Given the description of an element on the screen output the (x, y) to click on. 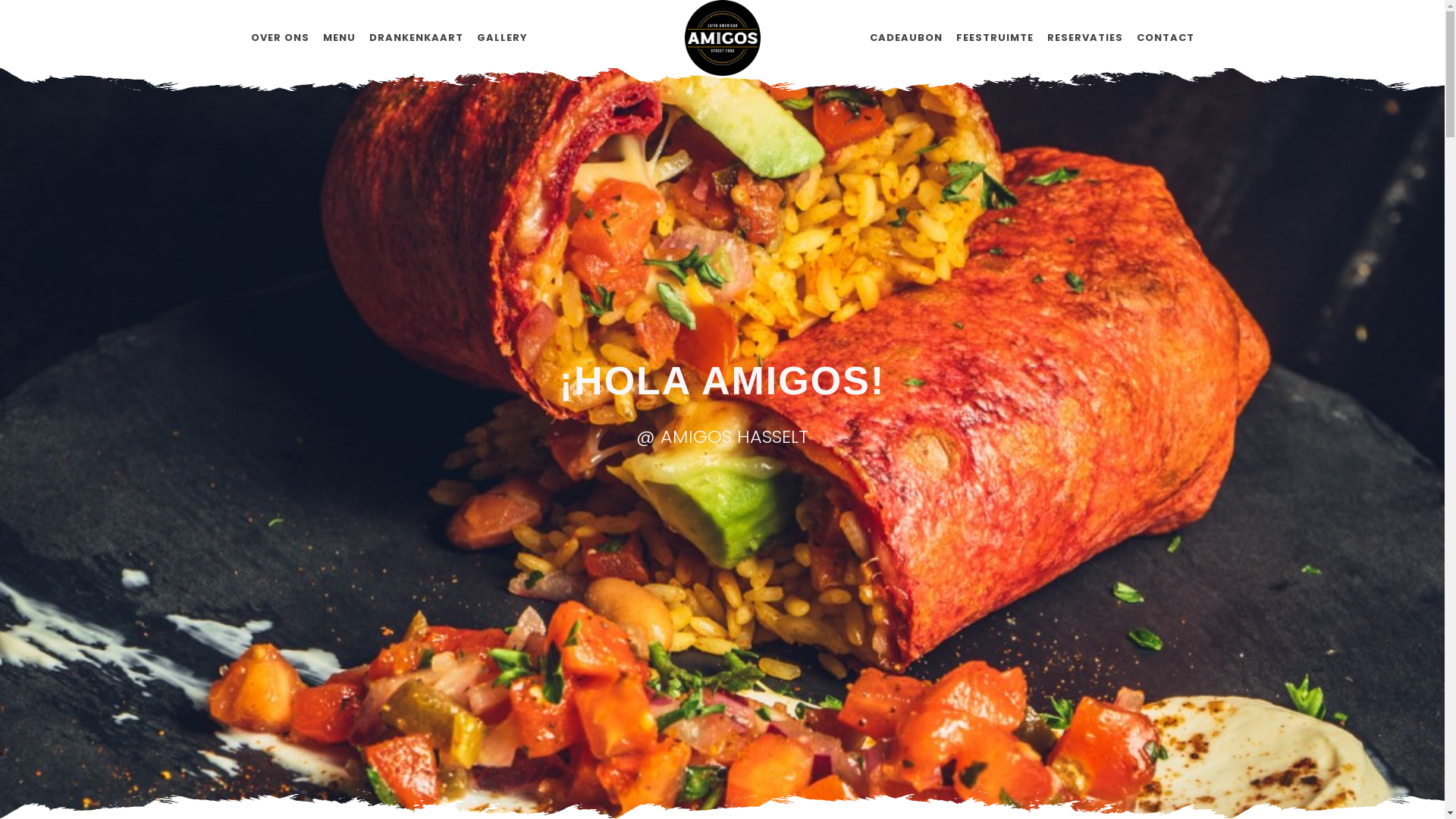
DRANKENKAART Element type: text (415, 37)
Route Element type: text (565, 696)
CONTACT Element type: text (1164, 37)
RESERVATIES Element type: text (1084, 37)
CADEAUBON Element type: text (904, 37)
Algemene voorwaarden & GDPR Element type: text (1127, 736)
FEESTRUIMTE Element type: text (993, 37)
OVER ONS Element type: text (279, 37)
GALLERY Element type: text (501, 37)
011 81 80 85 Element type: text (401, 715)
info@amigoshasselt.be Element type: text (333, 774)
MENU Element type: text (338, 37)
